Given the description of an element on the screen output the (x, y) to click on. 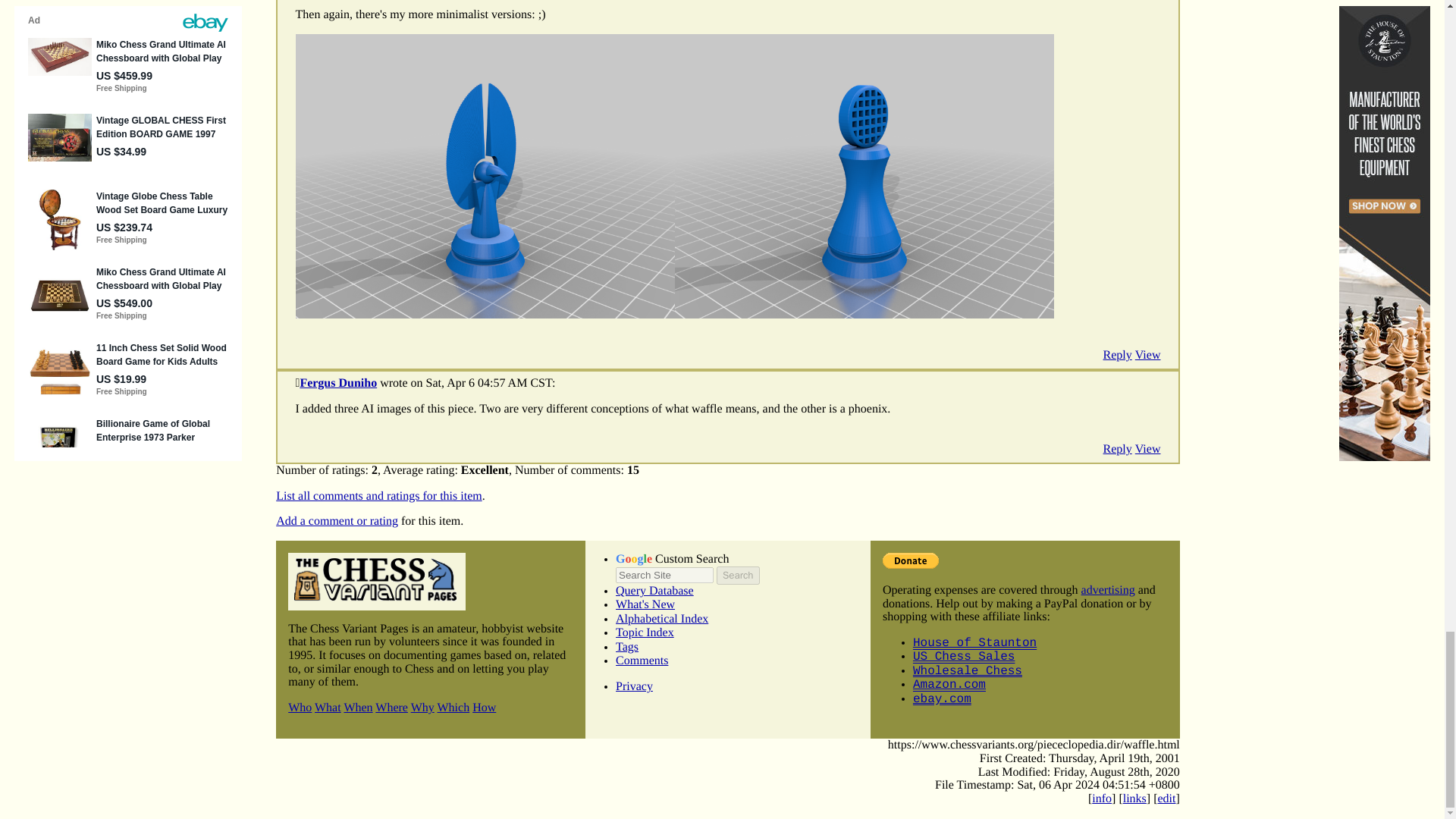
What is a Chess Variant? (327, 707)
PayPal - The safer, easier way to pay online! (910, 560)
Why play Chess variants? (421, 707)
When did Chess variants begin and get going? (357, 707)
Search (737, 575)
How can I create and contribute my own Chess variants? (483, 707)
Who is behind the Chess Variant Pages? (299, 707)
Which Chess variants are best? (452, 707)
